Given the description of an element on the screen output the (x, y) to click on. 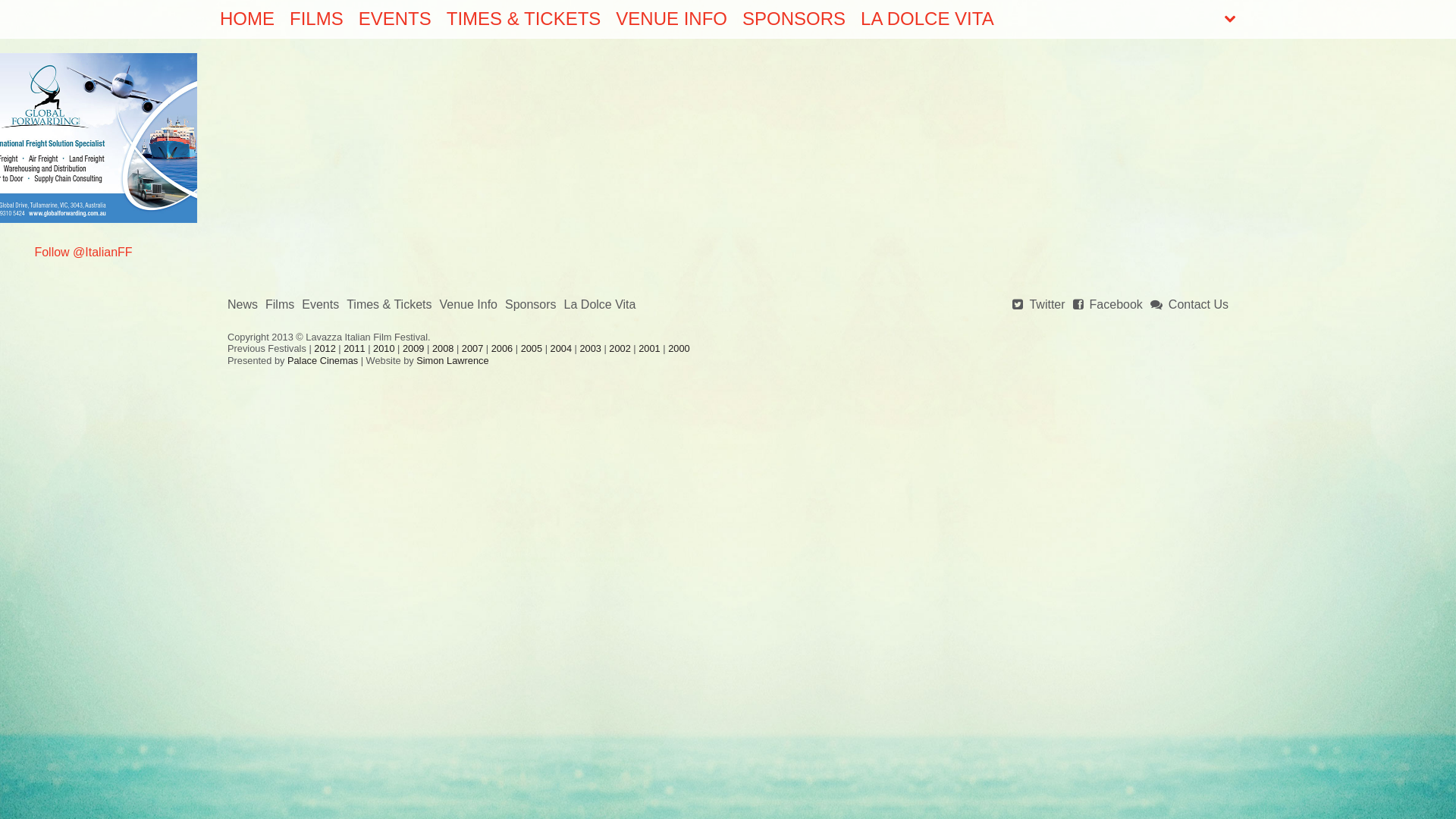
Palace Cinemas Element type: text (322, 360)
Follow @ItalianFF Element type: text (82, 251)
2000 Element type: text (678, 348)
2006 Element type: text (501, 348)
2001 Element type: text (648, 348)
EVENTS Element type: text (395, 18)
Films Element type: text (279, 305)
2007 Element type: text (472, 348)
Venue Info Element type: text (468, 305)
2011 Element type: text (353, 348)
2003 Element type: text (589, 348)
2002 Element type: text (619, 348)
Simon Lawrence Element type: text (452, 360)
2004 Element type: text (560, 348)
2012 Element type: text (324, 348)
HOME Element type: text (247, 18)
FILMS Element type: text (316, 18)
Sponsors Element type: text (530, 305)
Facebook Element type: text (1107, 305)
2005 Element type: text (531, 348)
News Element type: text (242, 305)
2008 Element type: text (442, 348)
2010 Element type: text (383, 348)
2009 Element type: text (412, 348)
SPONSORS Element type: text (793, 18)
LA DOLCE VITA Element type: text (927, 18)
Events Element type: text (319, 305)
Times & Tickets Element type: text (388, 305)
TIMES & TICKETS Element type: text (523, 18)
Contact Us Element type: text (1189, 305)
VENUE INFO Element type: text (671, 18)
La Dolce Vita Element type: text (600, 305)
Twitter Element type: text (1038, 305)
